Given the description of an element on the screen output the (x, y) to click on. 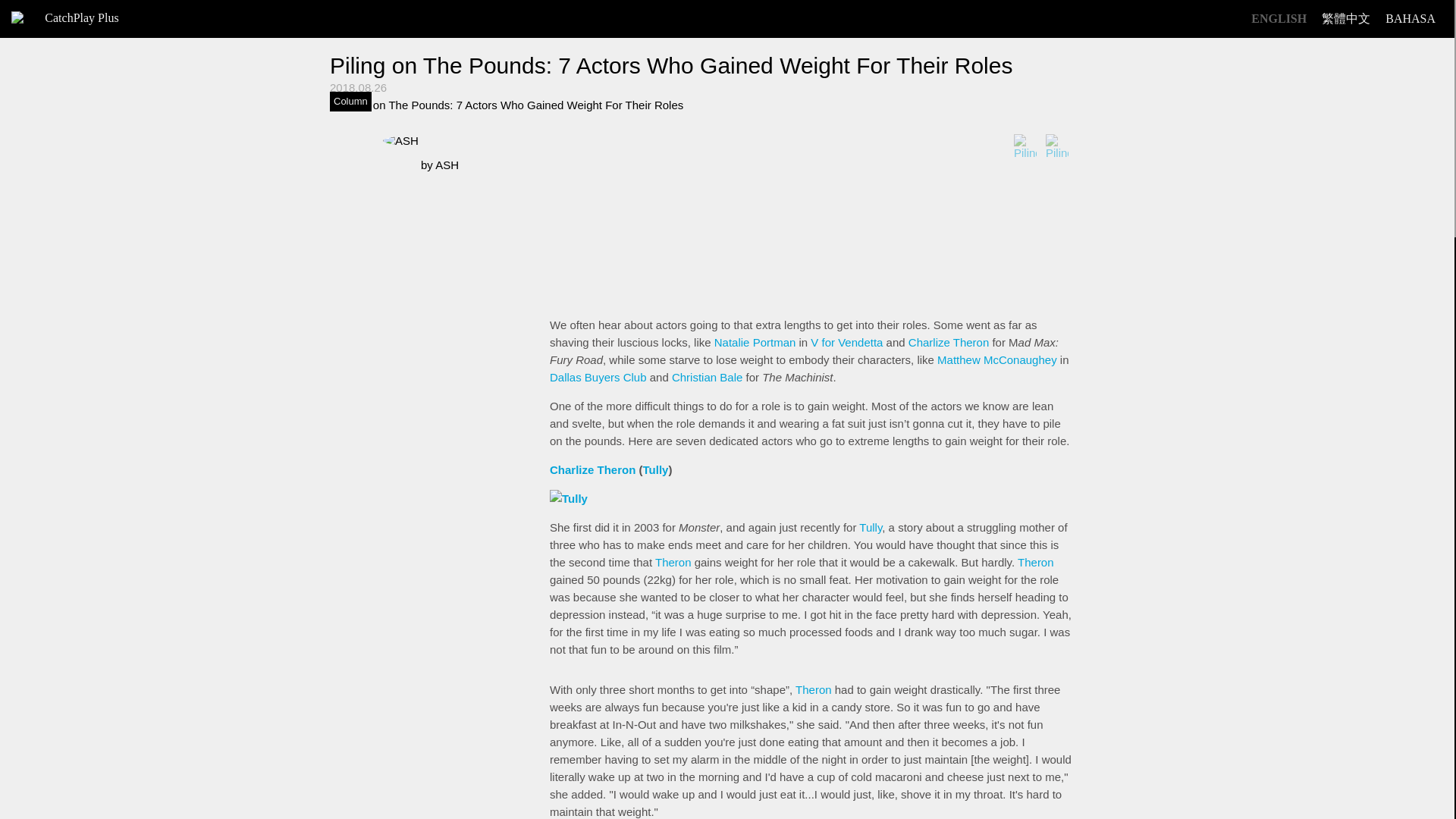
Natalie Portman (755, 341)
Theron (1035, 562)
V for Vendetta (846, 341)
ENGLISH (1278, 19)
Charlize Theron (948, 341)
Theron (812, 689)
Charlize Theron (592, 469)
Tully (870, 526)
Tully (655, 469)
BAHASA (1409, 19)
